Given the description of an element on the screen output the (x, y) to click on. 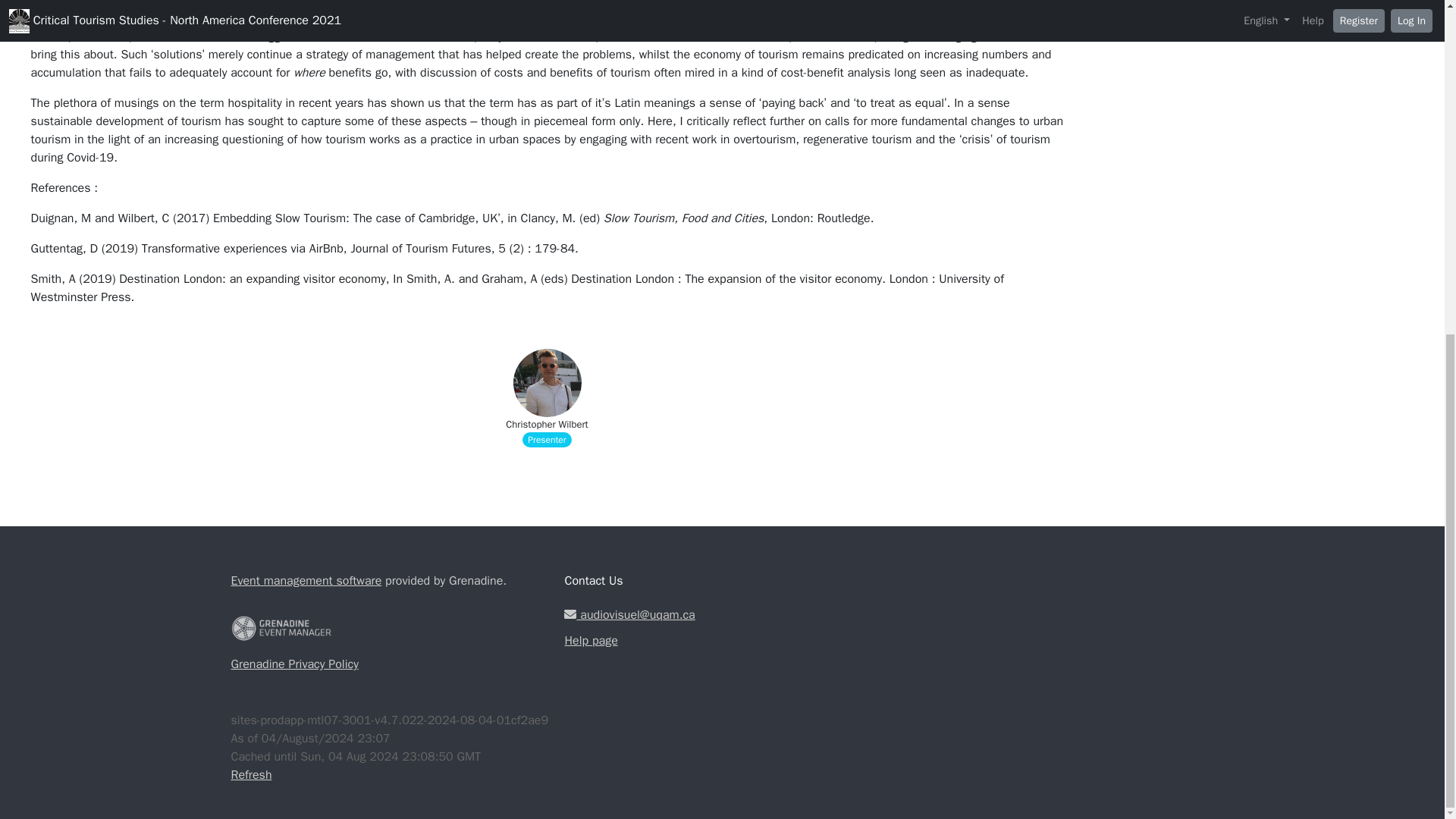
Christopher Wilbert (546, 424)
Grenadine Privacy Policy (294, 663)
Help page (721, 640)
Event management software (305, 580)
